Given the description of an element on the screen output the (x, y) to click on. 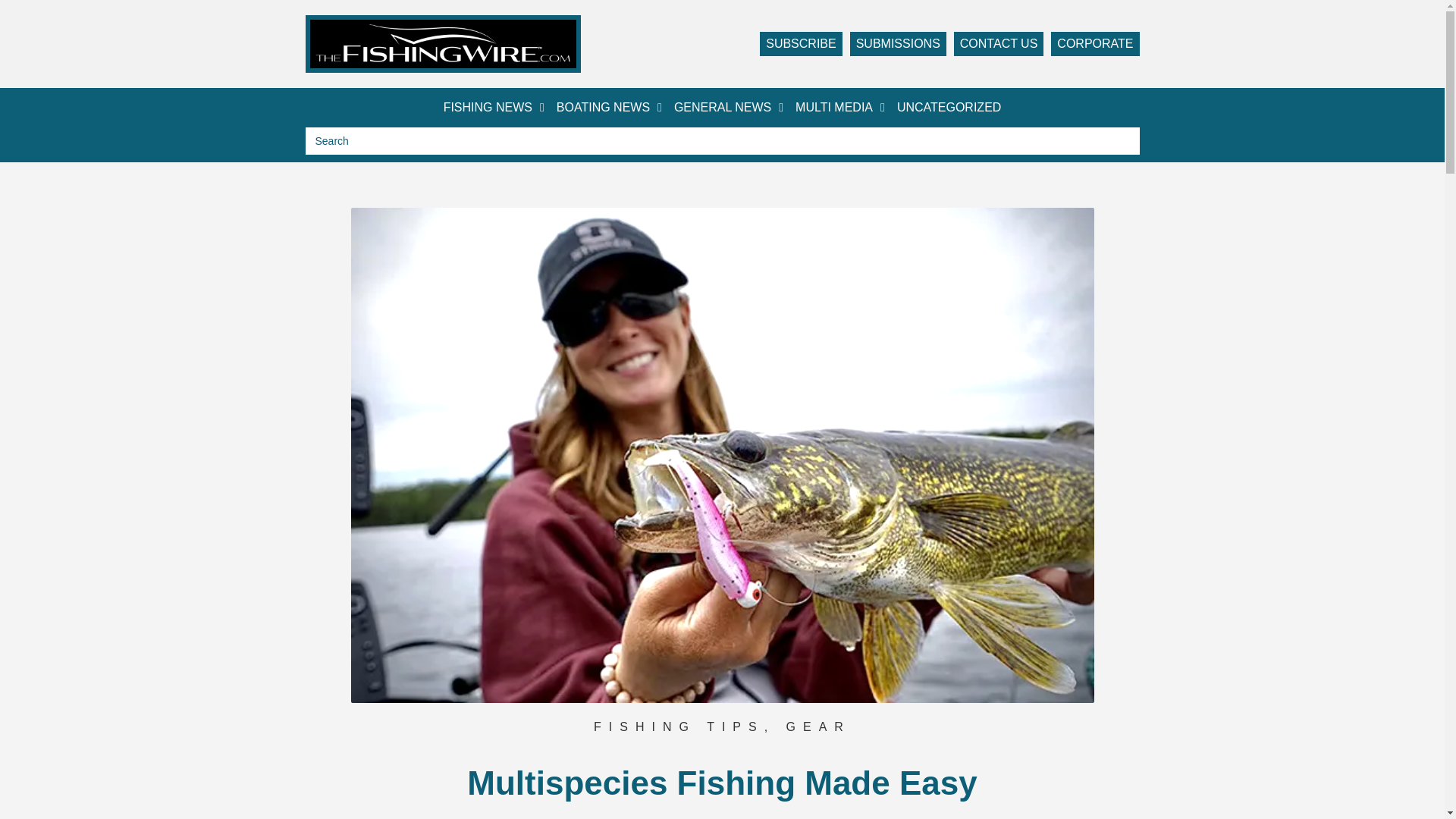
MULTI MEDIA (840, 107)
FISHING NEWS (494, 107)
UNCATEGORIZED (949, 107)
SUBSCRIBE (800, 43)
CONTACT US (998, 43)
BOATING NEWS (609, 107)
CORPORATE (1094, 43)
GENERAL NEWS (728, 107)
SUBMISSIONS (898, 43)
